Given the description of an element on the screen output the (x, y) to click on. 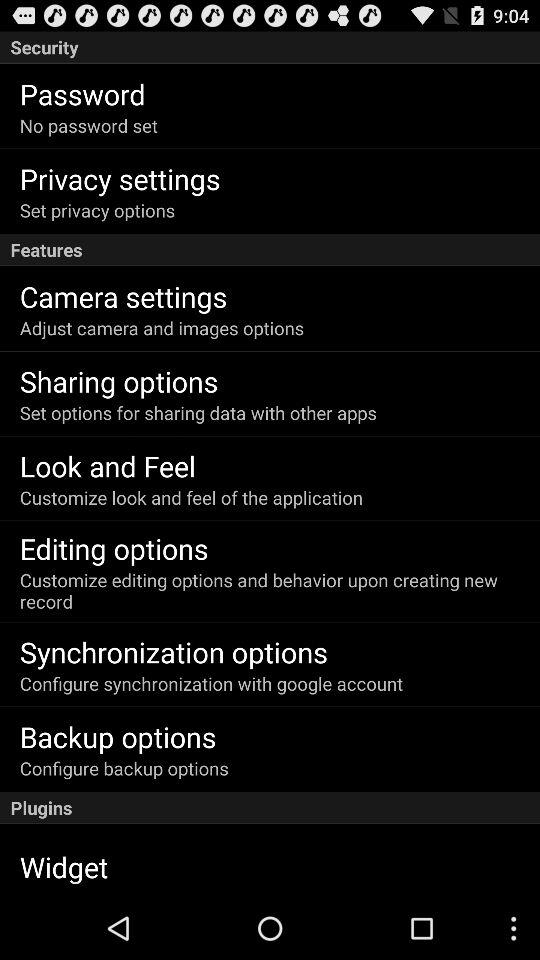
turn on the icon below the customize editing options (173, 651)
